Given the description of an element on the screen output the (x, y) to click on. 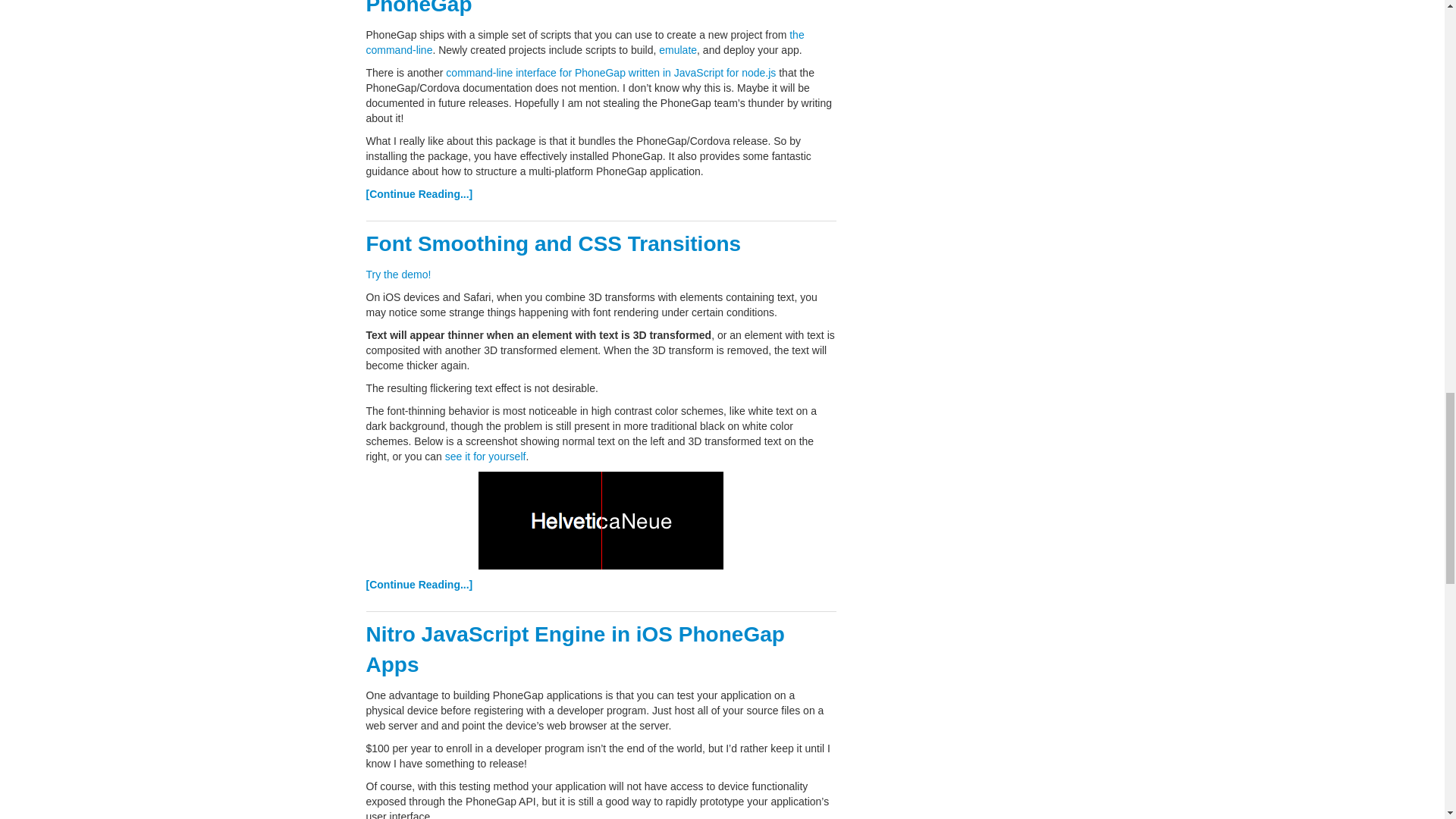
Nitro JavaScript Engine in iOS PhoneGap Apps (574, 649)
Font Smoothing and CSS Transitions (553, 243)
Try the demo! (397, 274)
emulate (678, 50)
the command-line (584, 42)
see it for yourself (485, 456)
The Node.js Command-line Interface for PhoneGap (566, 7)
